Given the description of an element on the screen output the (x, y) to click on. 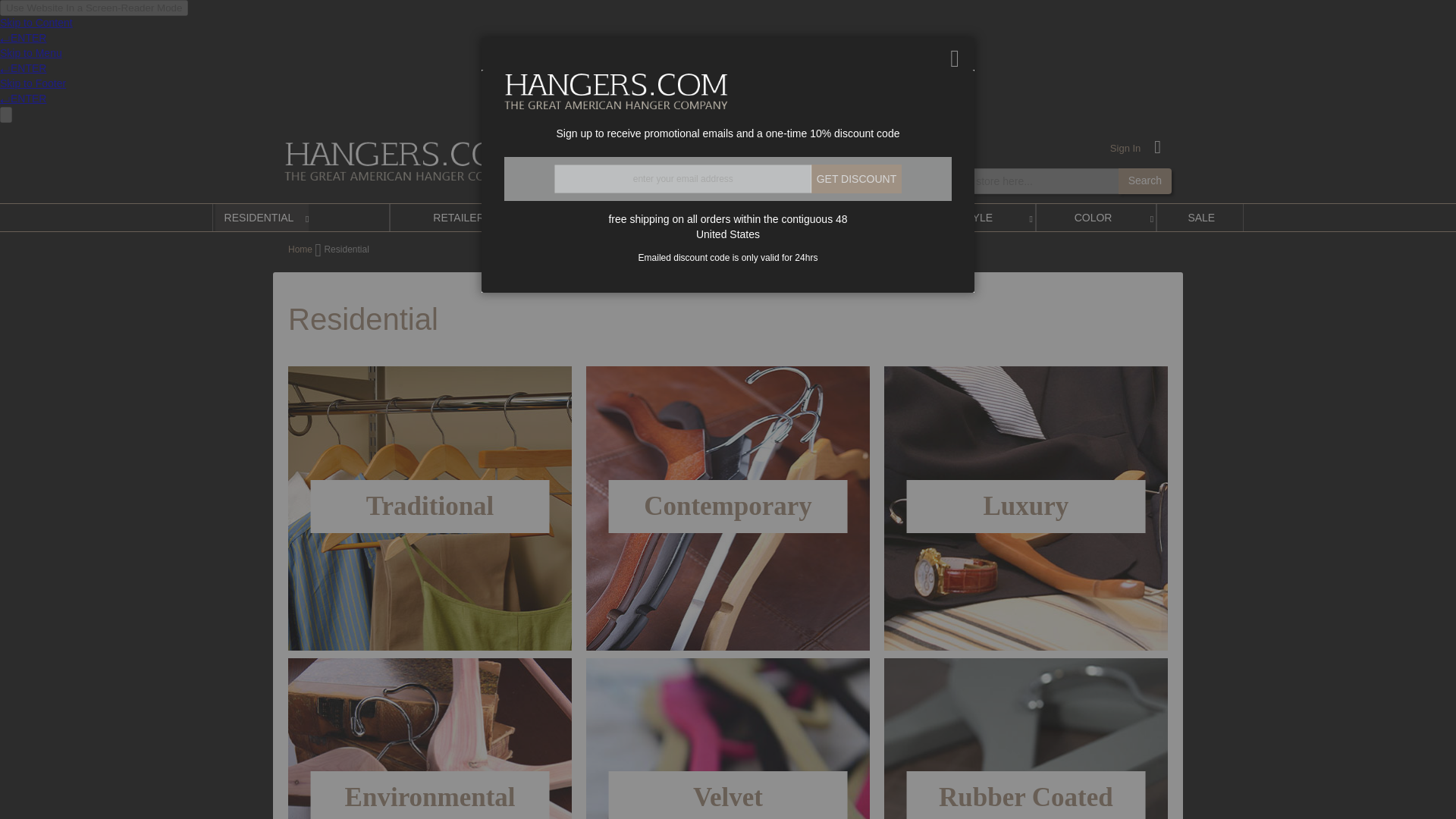
Residential Collections - Environmental (430, 738)
Residential Collections - Velvet (727, 795)
Residential Collections - Velvet (727, 738)
Residential Collections - Environmental (429, 795)
Residential Collections - Traditional (430, 507)
Go to Home Page (301, 249)
Residential Collections - Contemporary (727, 507)
Residential Collections - Luxury (1025, 506)
Residential Collections - Contemporary (727, 506)
Search (1145, 181)
Sign In (1125, 148)
RESIDENTIAL (261, 216)
Residential Collections - Environmental (430, 798)
Residential Collections - Luxury (1025, 508)
Residential Collections - Modern (727, 508)
